Given the description of an element on the screen output the (x, y) to click on. 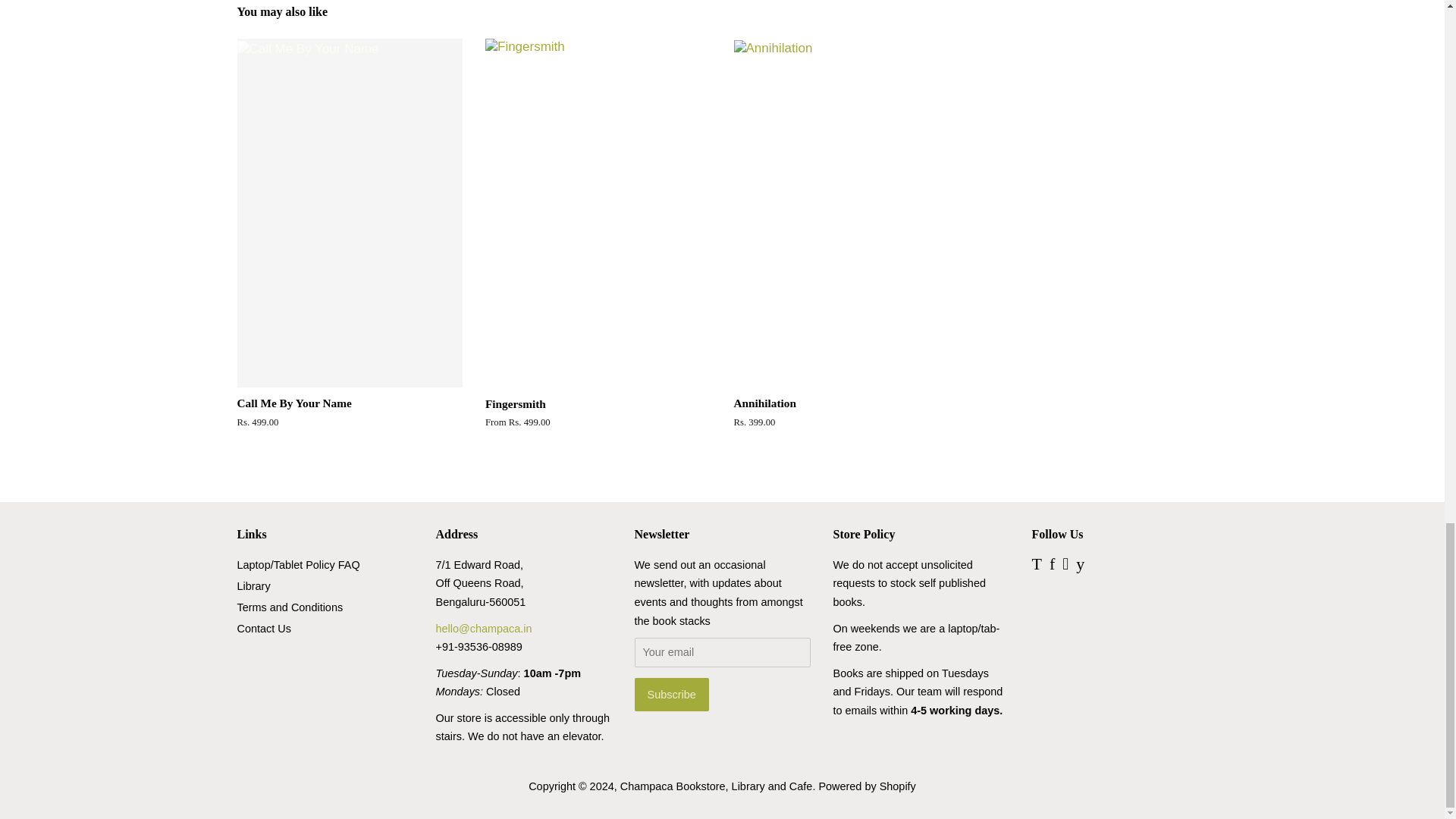
Subscribe (670, 694)
